Given the description of an element on the screen output the (x, y) to click on. 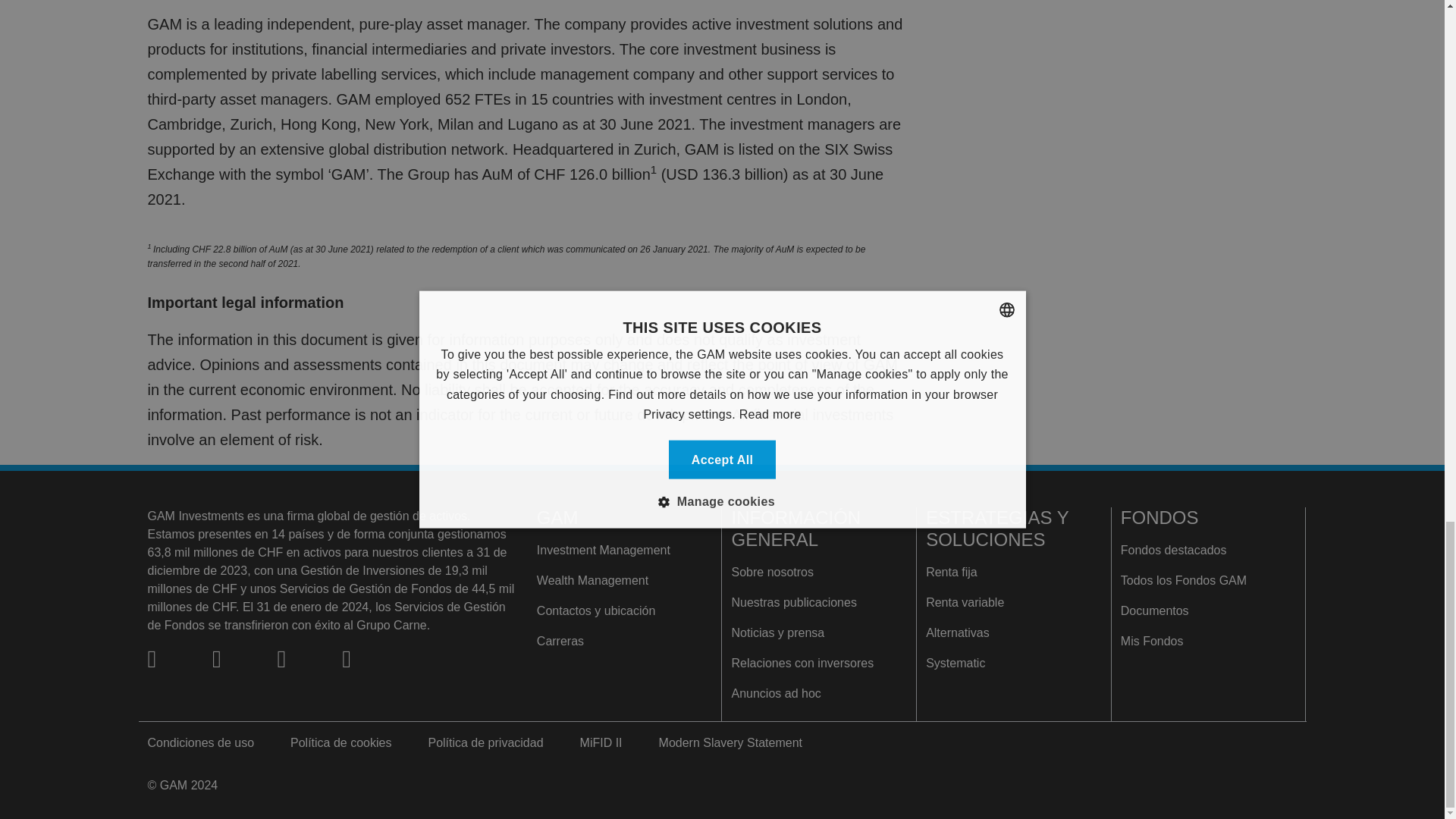
RSS (235, 659)
Twitter (170, 659)
